Given the description of an element on the screen output the (x, y) to click on. 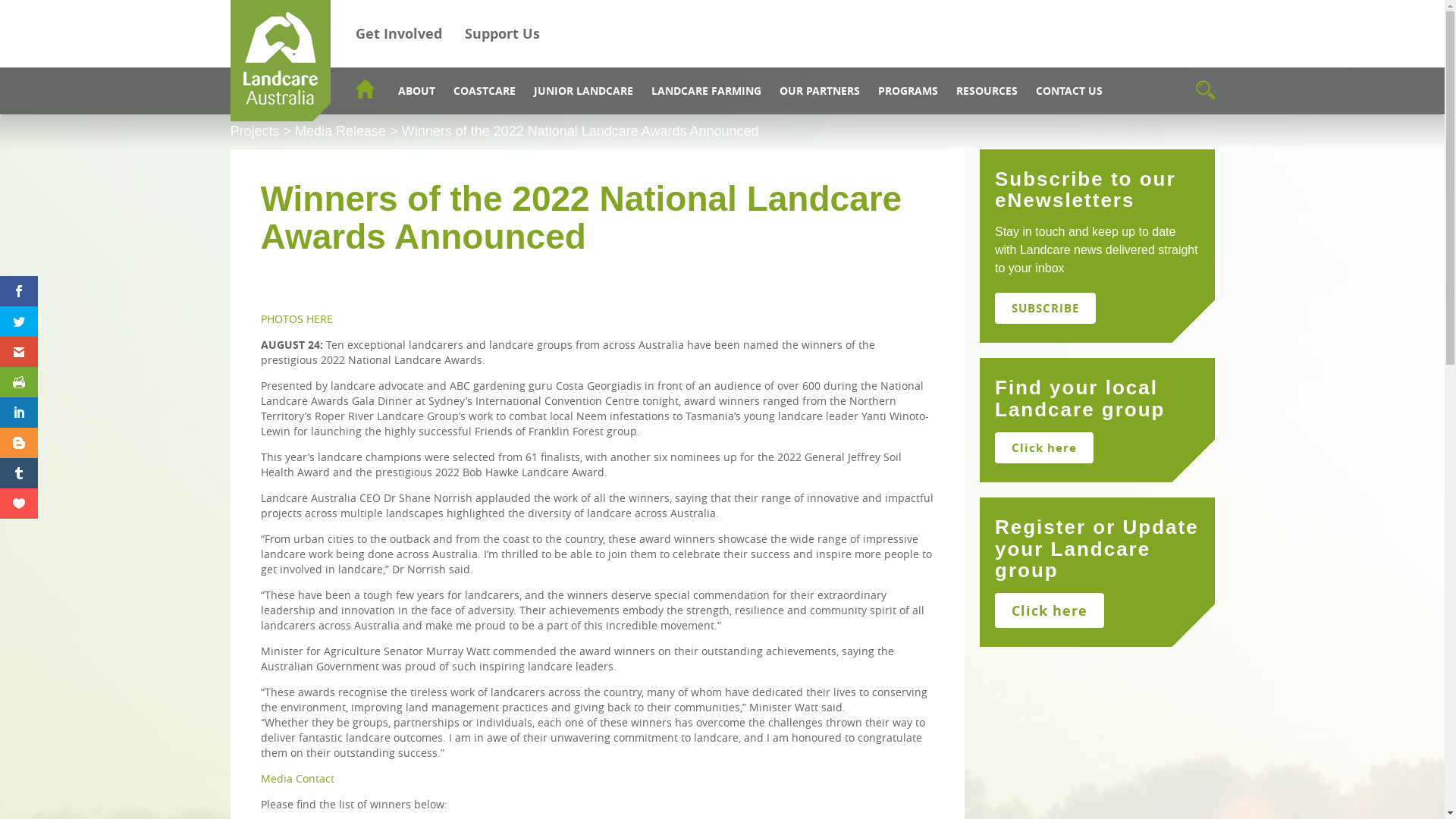
JUNIOR LANDCARE Element type: text (583, 90)
RESOURCES Element type: text (986, 90)
Support Us Element type: text (502, 33)
OUR PARTNERS Element type: text (819, 90)
COASTCARE Element type: text (484, 90)
PHOTOS HERE Element type: text (296, 322)
Click here Element type: text (1043, 447)
LANDCARE FARMING Element type: text (705, 90)
ABOUT Element type: text (415, 90)
SUBSCRIBE Element type: text (1044, 307)
Get Involved Element type: text (398, 33)
Click here Element type: text (1049, 610)
CONTACT US Element type: text (1068, 90)
Media Contact Element type: text (297, 782)
PROGRAMS Element type: text (908, 90)
